Given the description of an element on the screen output the (x, y) to click on. 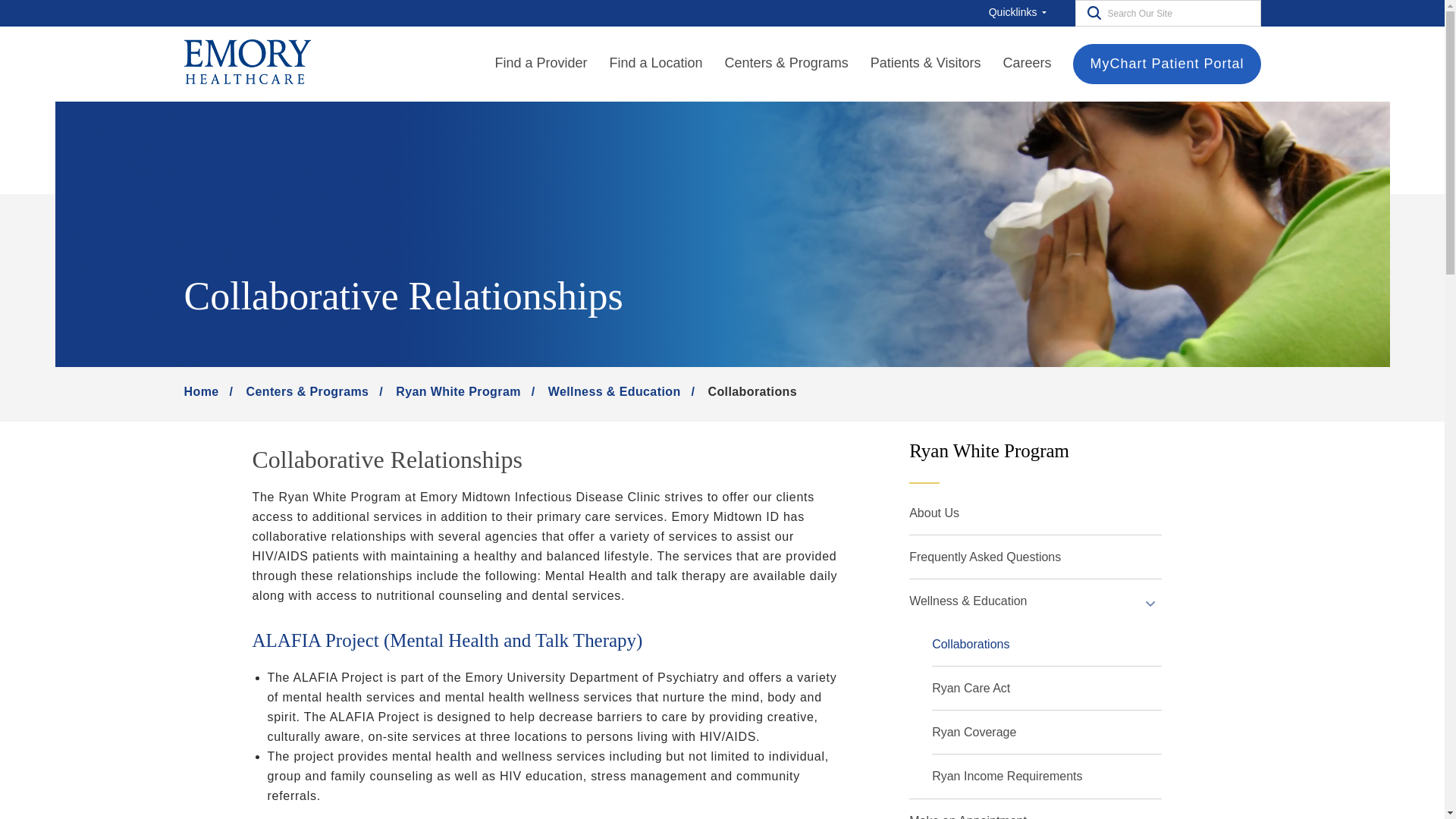
Find a Provider (540, 63)
Find a Location (656, 63)
Search (1090, 12)
Quicklinks (1020, 12)
Careers (1027, 63)
Header Logo (246, 63)
